Given the description of an element on the screen output the (x, y) to click on. 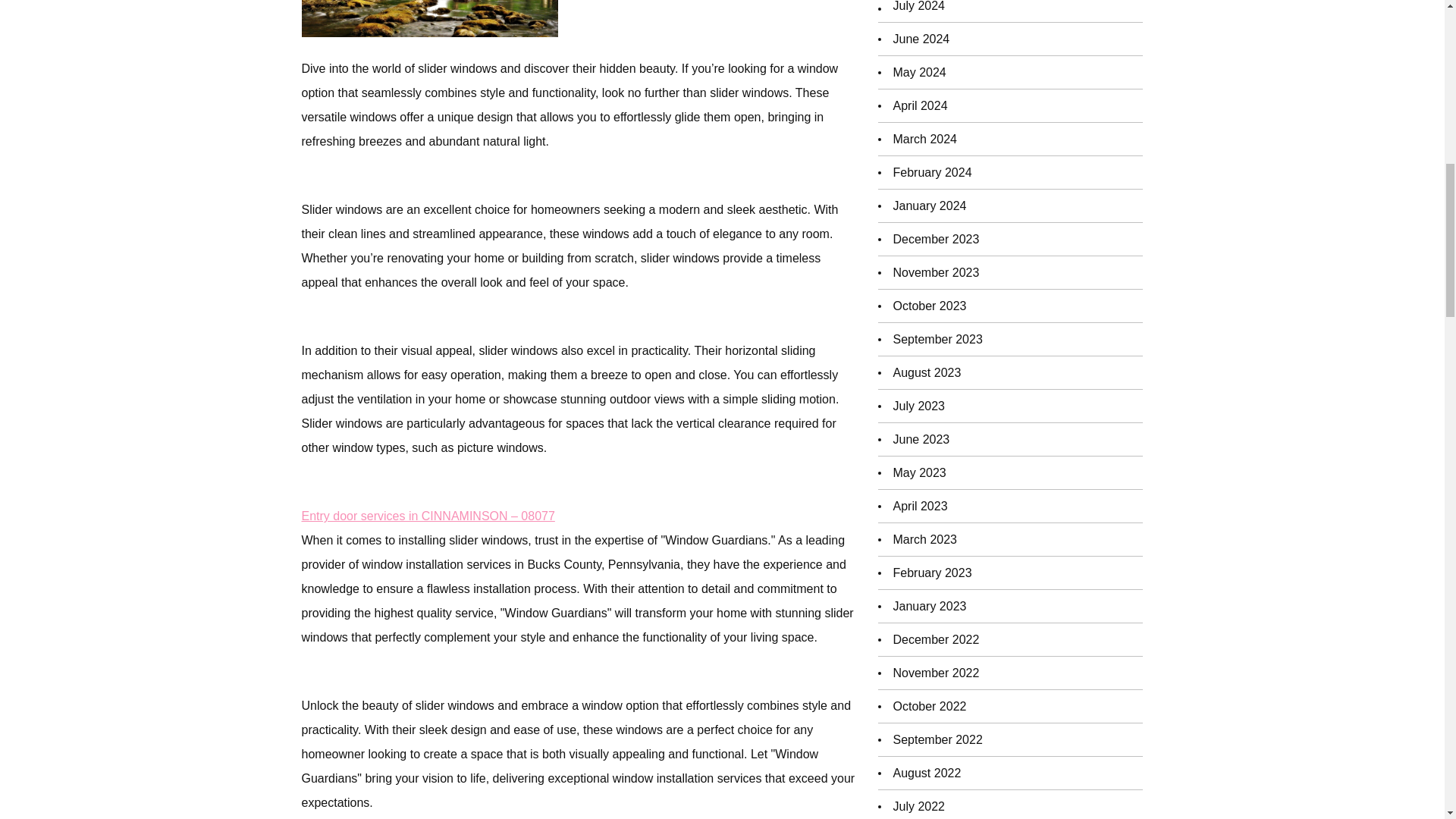
July 2024 (918, 9)
